Given the description of an element on the screen output the (x, y) to click on. 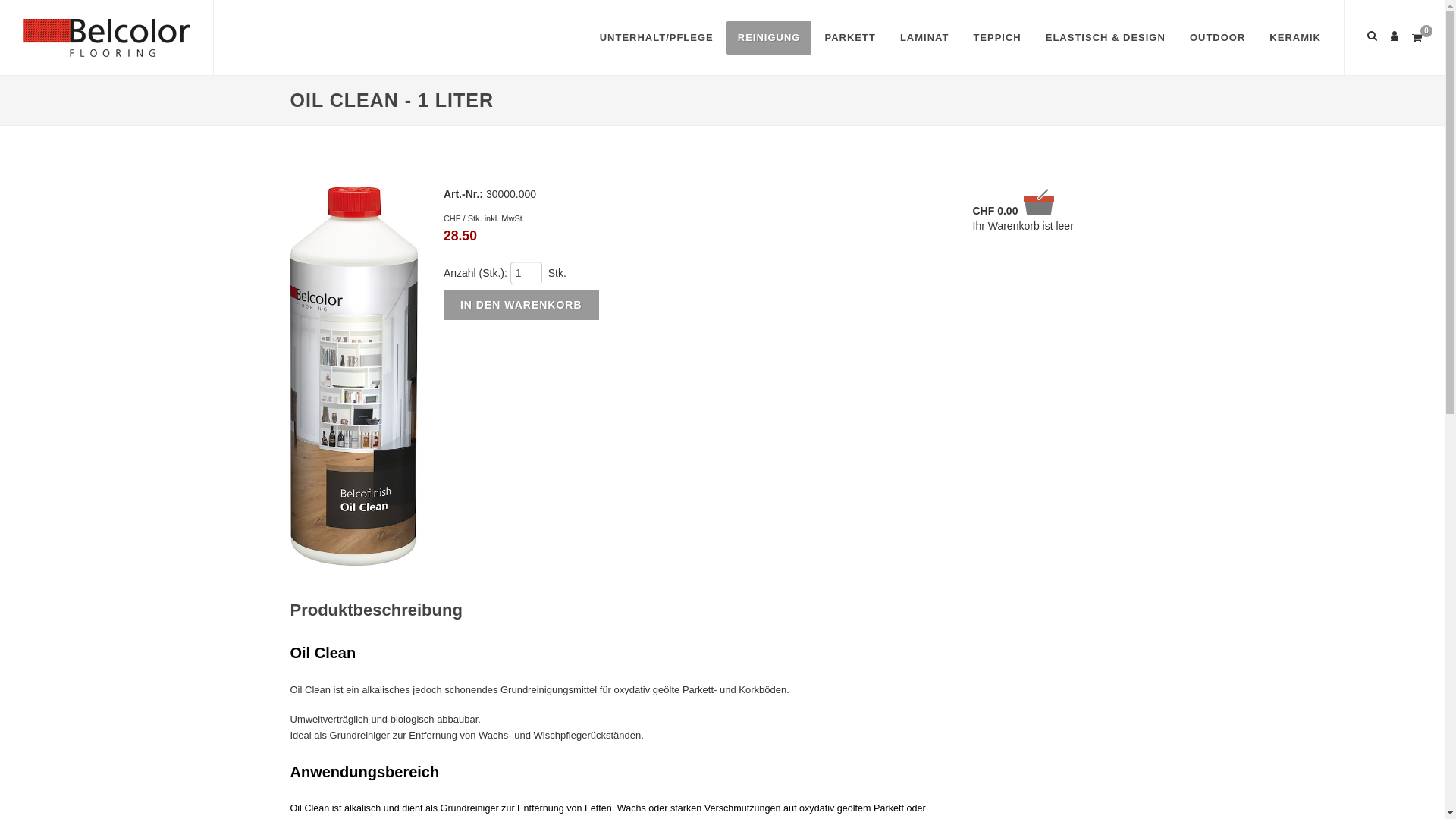
UNTERHALT/PFLEGE Element type: text (656, 37)
REINIGUNG Element type: text (769, 37)
KERAMIK Element type: text (1295, 37)
PARKETT Element type: text (849, 37)
In den Warenkorb Element type: text (521, 304)
ELASTISCH & DESIGN Element type: text (1105, 37)
LAMINAT Element type: text (924, 37)
TEPPICH Element type: text (996, 37)
OUTDOOR Element type: text (1217, 37)
0 Element type: text (1416, 35)
